Given the description of an element on the screen output the (x, y) to click on. 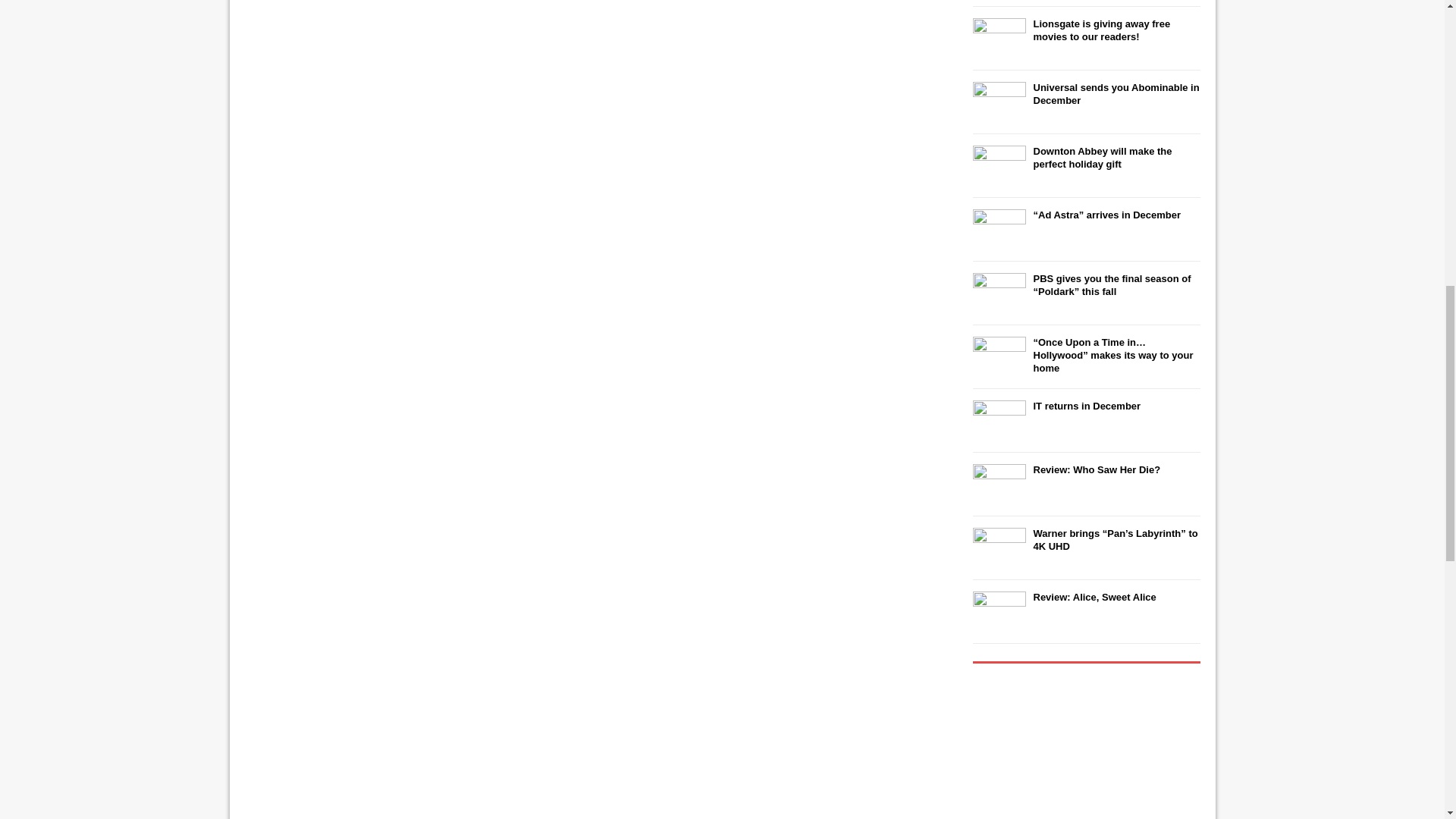
Universal sends you Abominable in December (1115, 93)
Lionsgate is giving away free movies to our readers! (1101, 30)
Downton Abbey will make the perfect holiday gift (1102, 157)
